Given the description of an element on the screen output the (x, y) to click on. 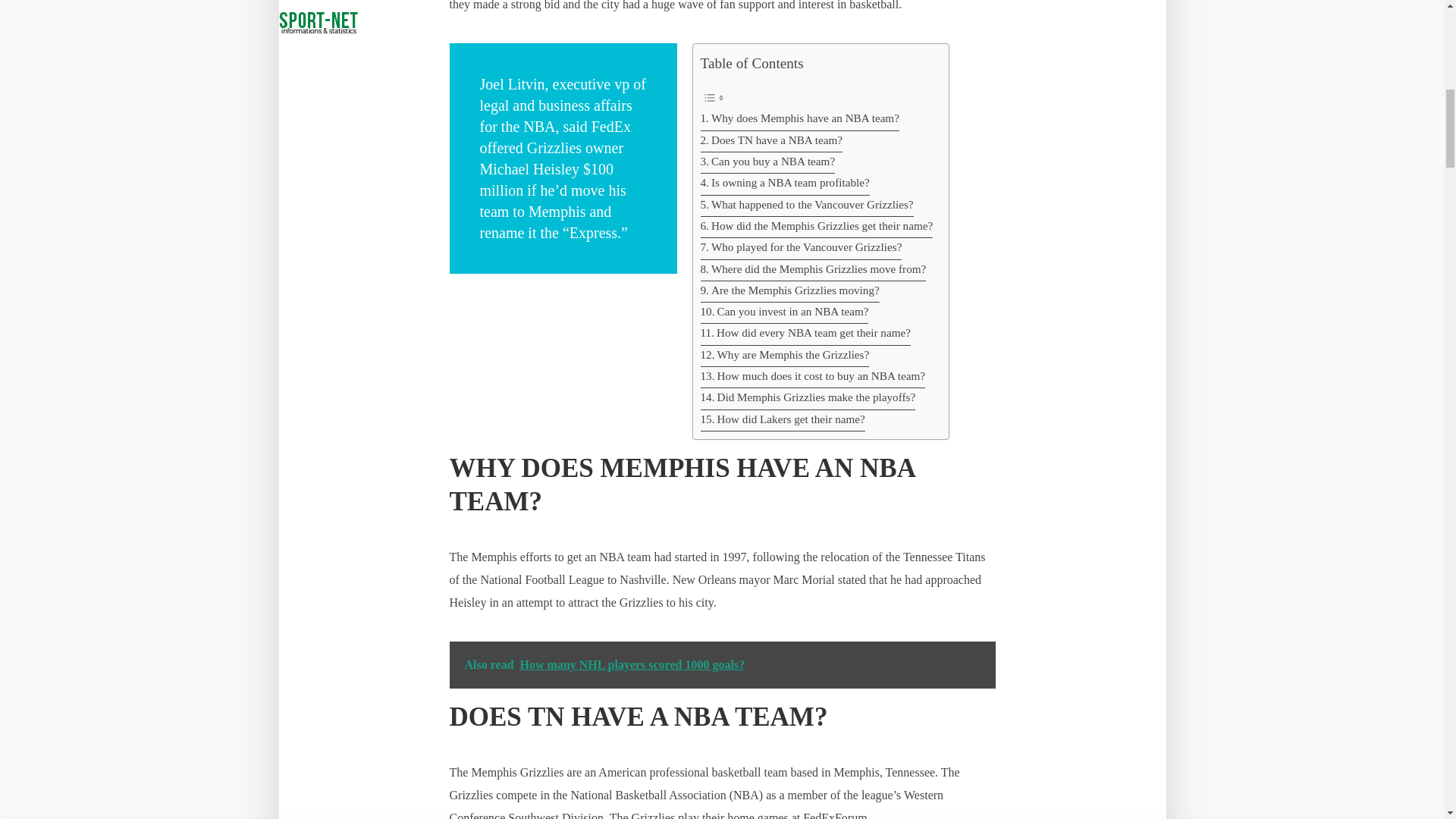
Why does Memphis have an NBA team? (799, 119)
What happened to the Vancouver Grizzlies? (807, 206)
Why are Memphis the Grizzlies? (784, 355)
Is owning a NBA team profitable? (784, 183)
Who played for the Vancouver Grizzlies? (801, 248)
Why are Memphis the Grizzlies? (784, 355)
Why does Memphis have an NBA team? (799, 119)
What happened to the Vancouver Grizzlies? (807, 206)
Are the Memphis Grizzlies moving? (789, 291)
Can you invest in an NBA team? (784, 312)
Does TN have a NBA team? (771, 141)
Can you buy a NBA team? (767, 162)
Where did the Memphis Grizzlies move from? (813, 270)
Does TN have a NBA team? (771, 141)
Can you buy a NBA team? (767, 162)
